Given the description of an element on the screen output the (x, y) to click on. 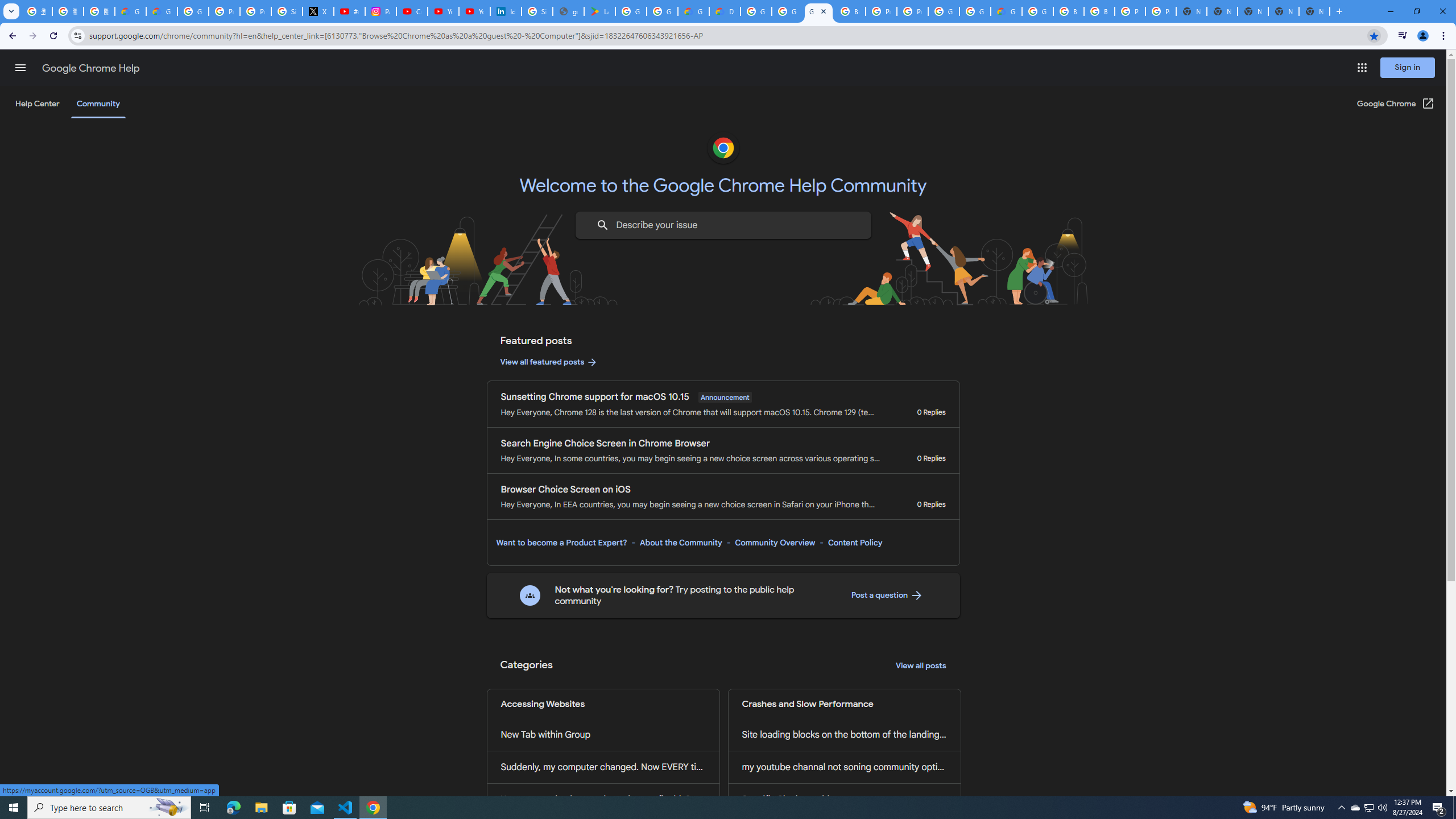
Google Cloud Platform (943, 11)
About the Community (680, 542)
Google Chrome (Open in a new window) (1395, 103)
Google Cloud Platform (1037, 11)
Google Chrome Community (818, 11)
